Given the description of an element on the screen output the (x, y) to click on. 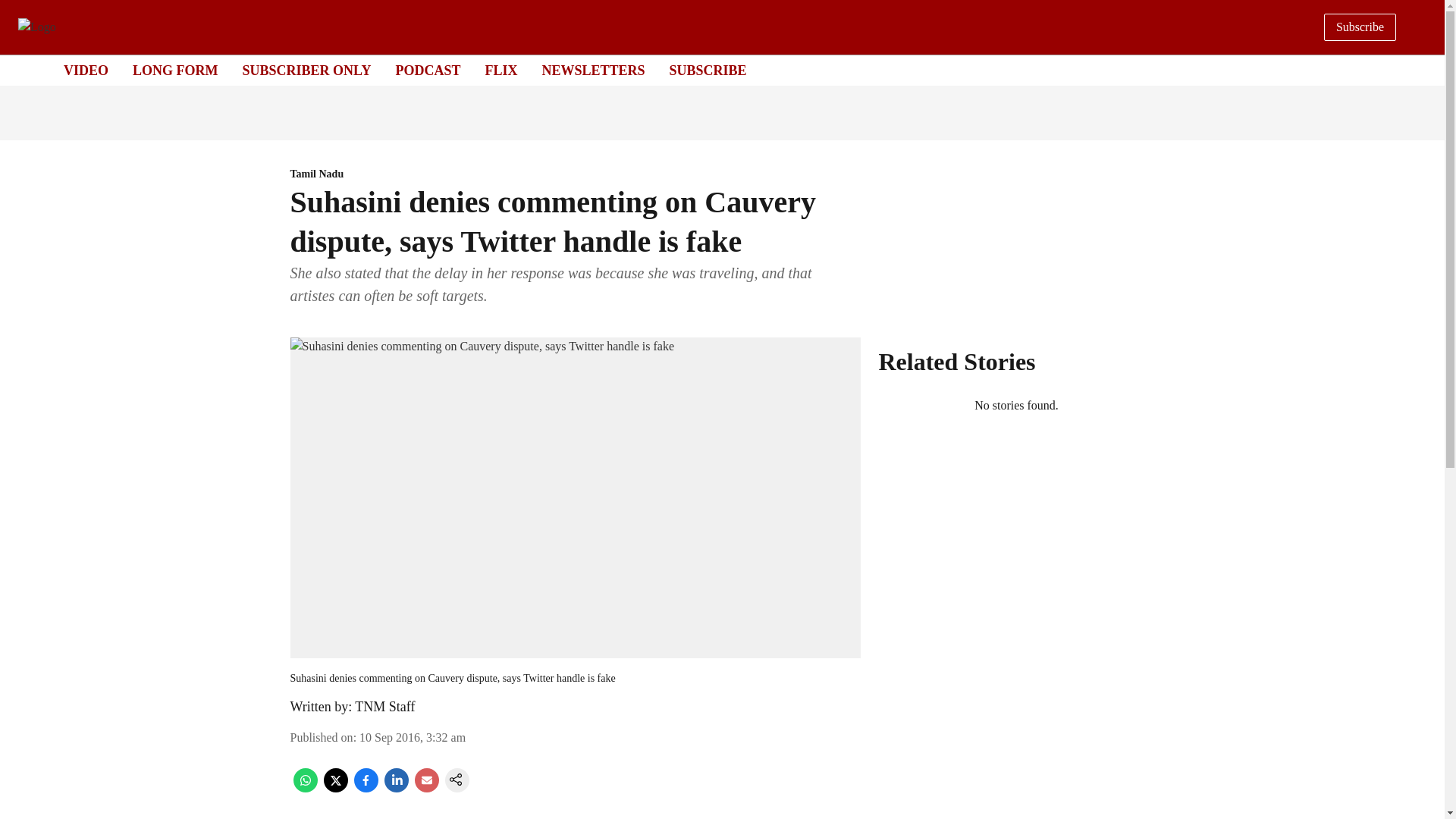
SUBSCRIBE (707, 70)
NEWSLETTERS (593, 70)
VIDEO (85, 70)
FLIX (500, 70)
SUBSCRIBER ONLY (307, 70)
Tamil Nadu (574, 174)
2016-09-10 03:32 (412, 737)
PODCAST (427, 70)
TNM Staff (384, 706)
